Given the description of an element on the screen output the (x, y) to click on. 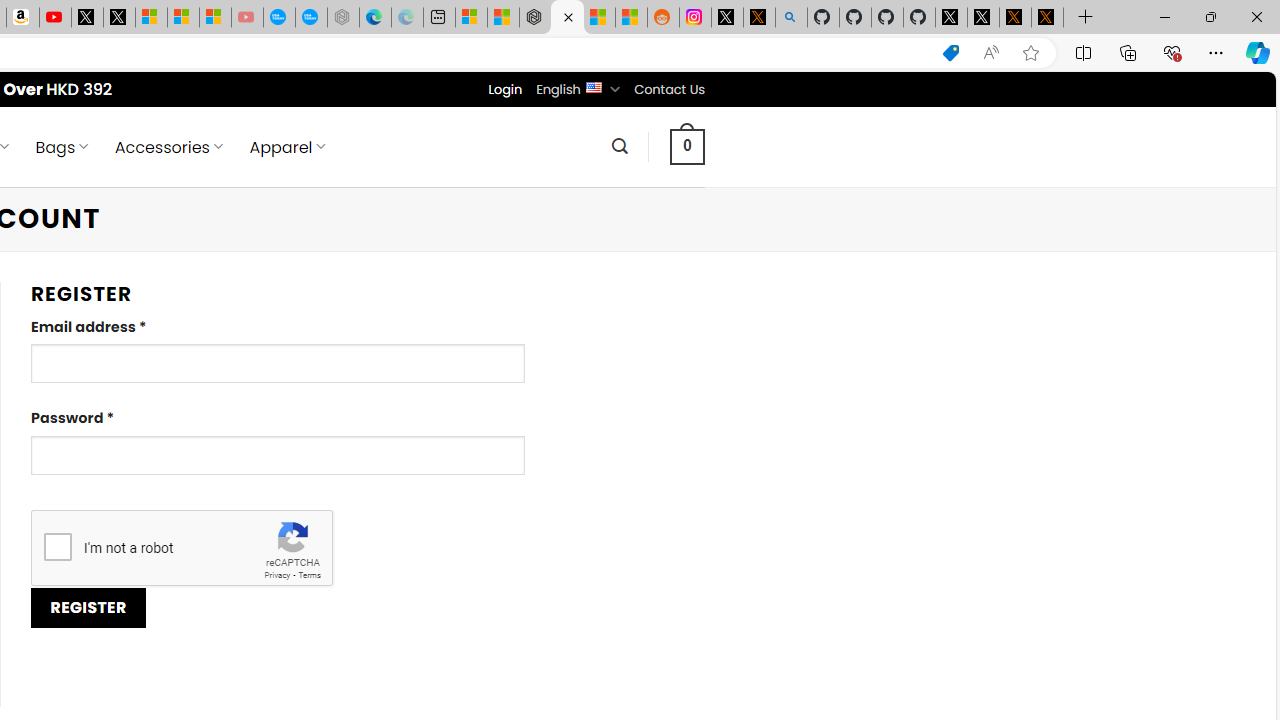
  0   (687, 146)
Gloom - YouTube - Sleeping (246, 17)
Microsoft account | Microsoft Account Privacy Settings (471, 17)
 0  (687, 146)
Nordace - Best Sellers (535, 17)
Nordace - My Account (566, 17)
